Given the description of an element on the screen output the (x, y) to click on. 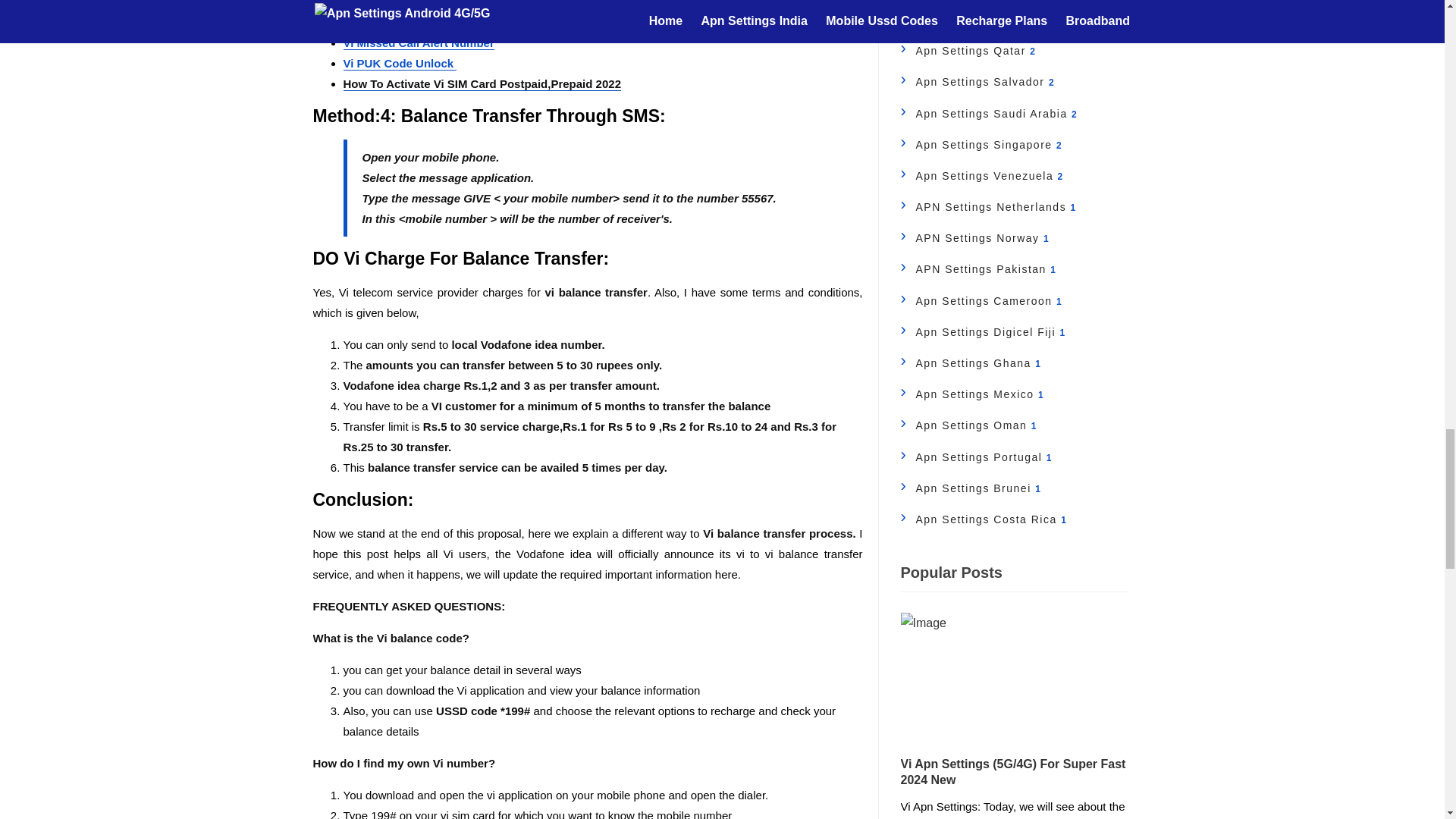
Vi Call Forwardig Number (411, 22)
Vi PUK Code Unlock  (399, 63)
Vi Missed Call Alert Number (417, 42)
Vi VAS Number (383, 4)
How To Activate Vi SIM Card Postpaid,Prepaid 2022 (481, 83)
